Given the description of an element on the screen output the (x, y) to click on. 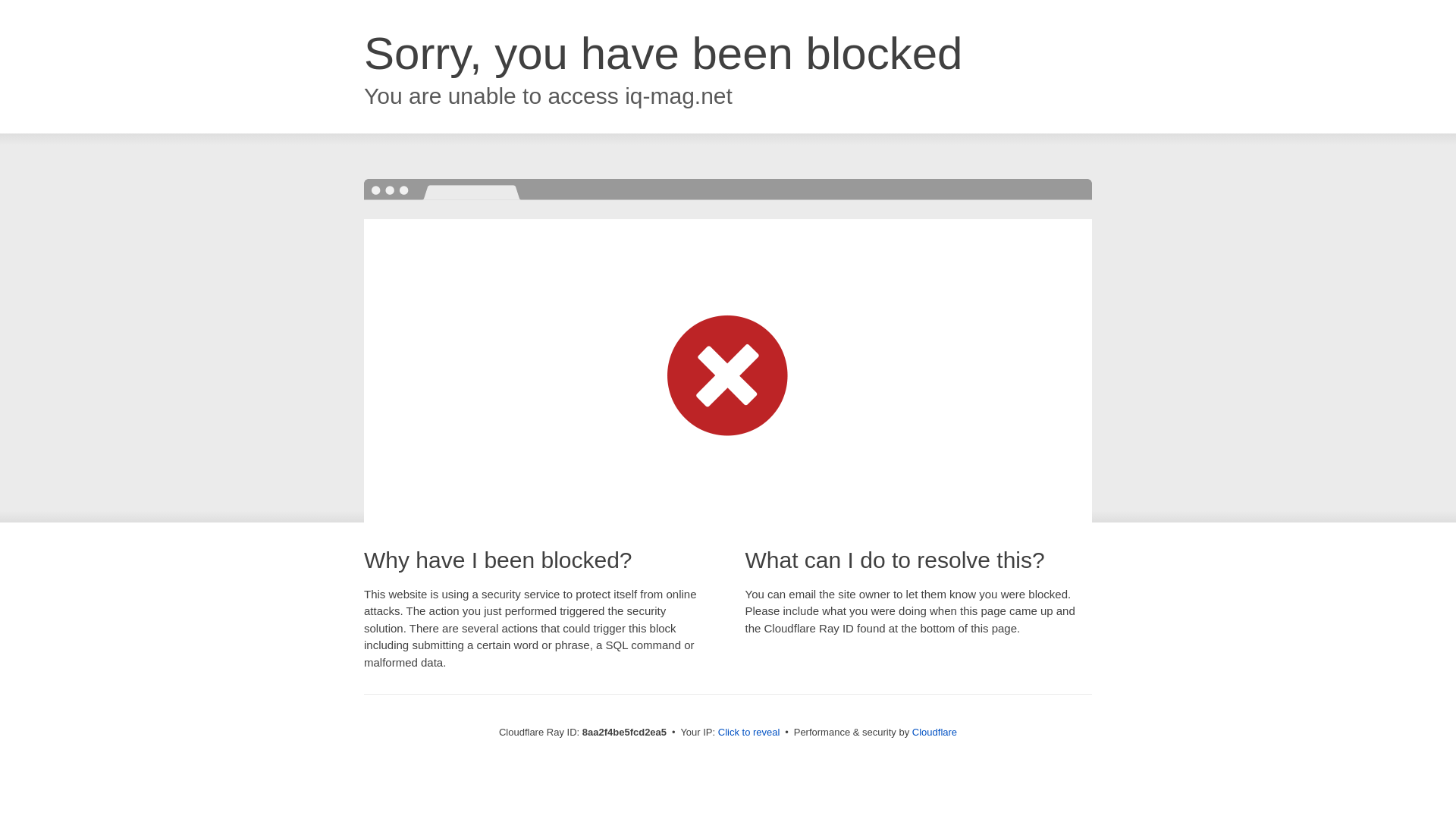
Cloudflare (934, 731)
Click to reveal (748, 732)
